Given the description of an element on the screen output the (x, y) to click on. 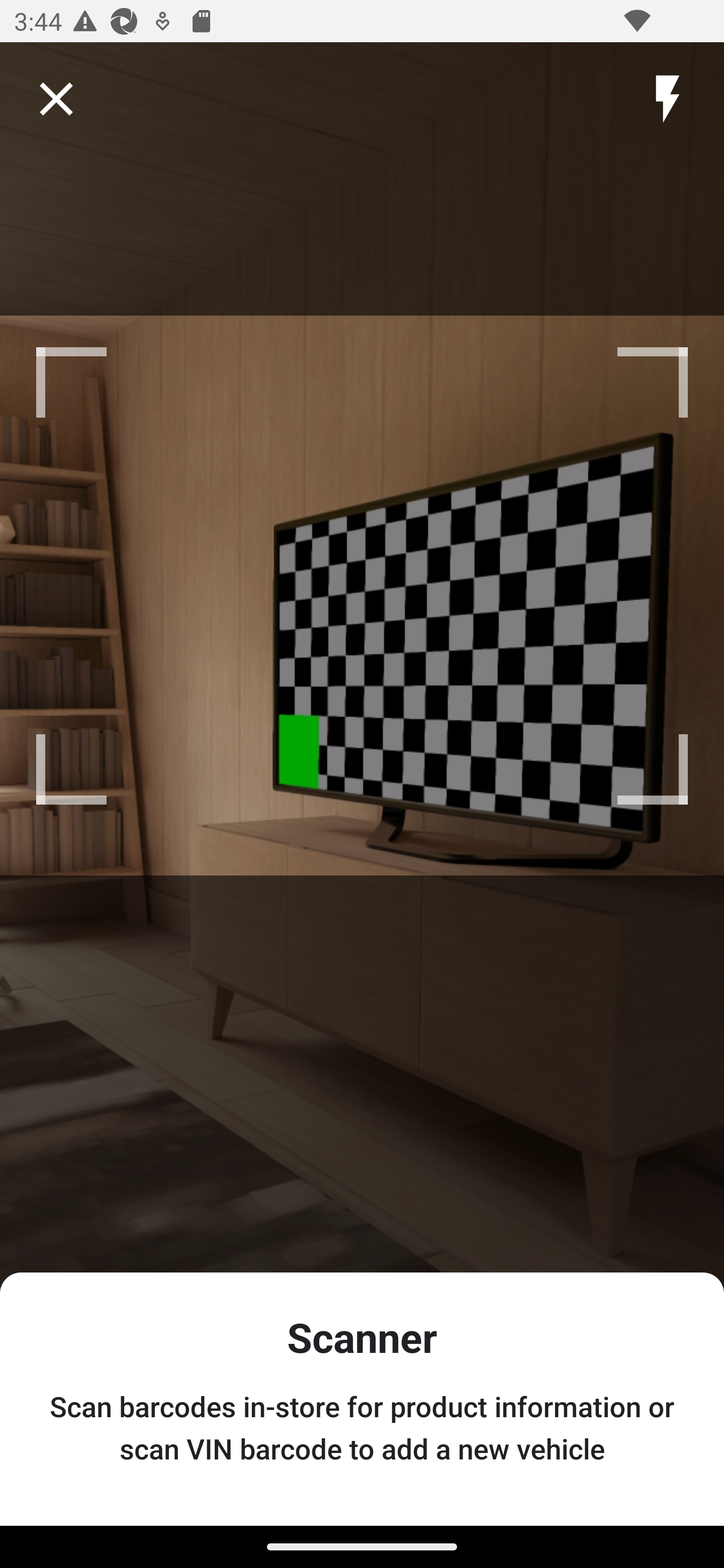
 (56, 98)
Flash  (667, 98)
